Given the description of an element on the screen output the (x, y) to click on. 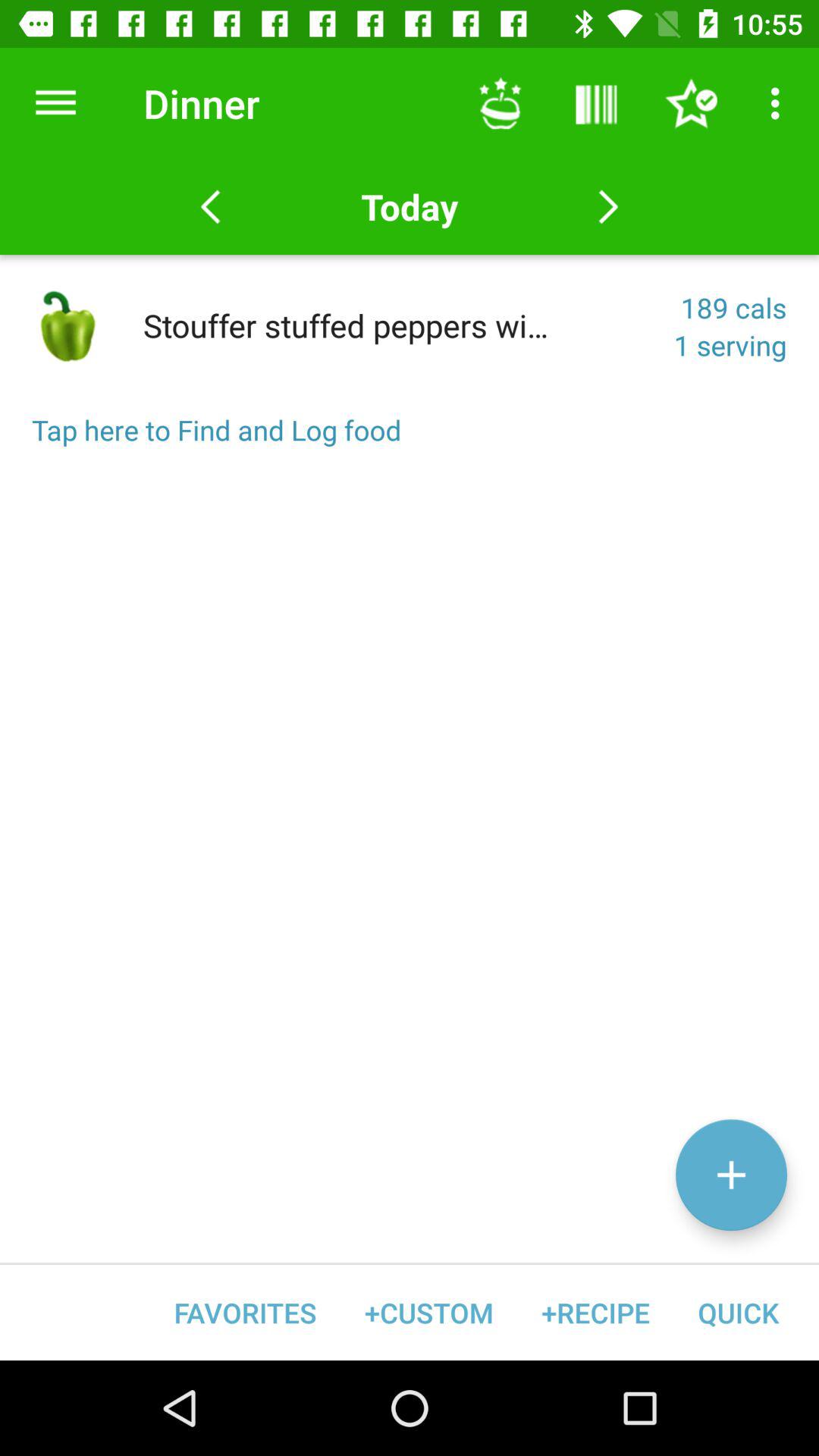
go to the previous (210, 206)
